Given the description of an element on the screen output the (x, y) to click on. 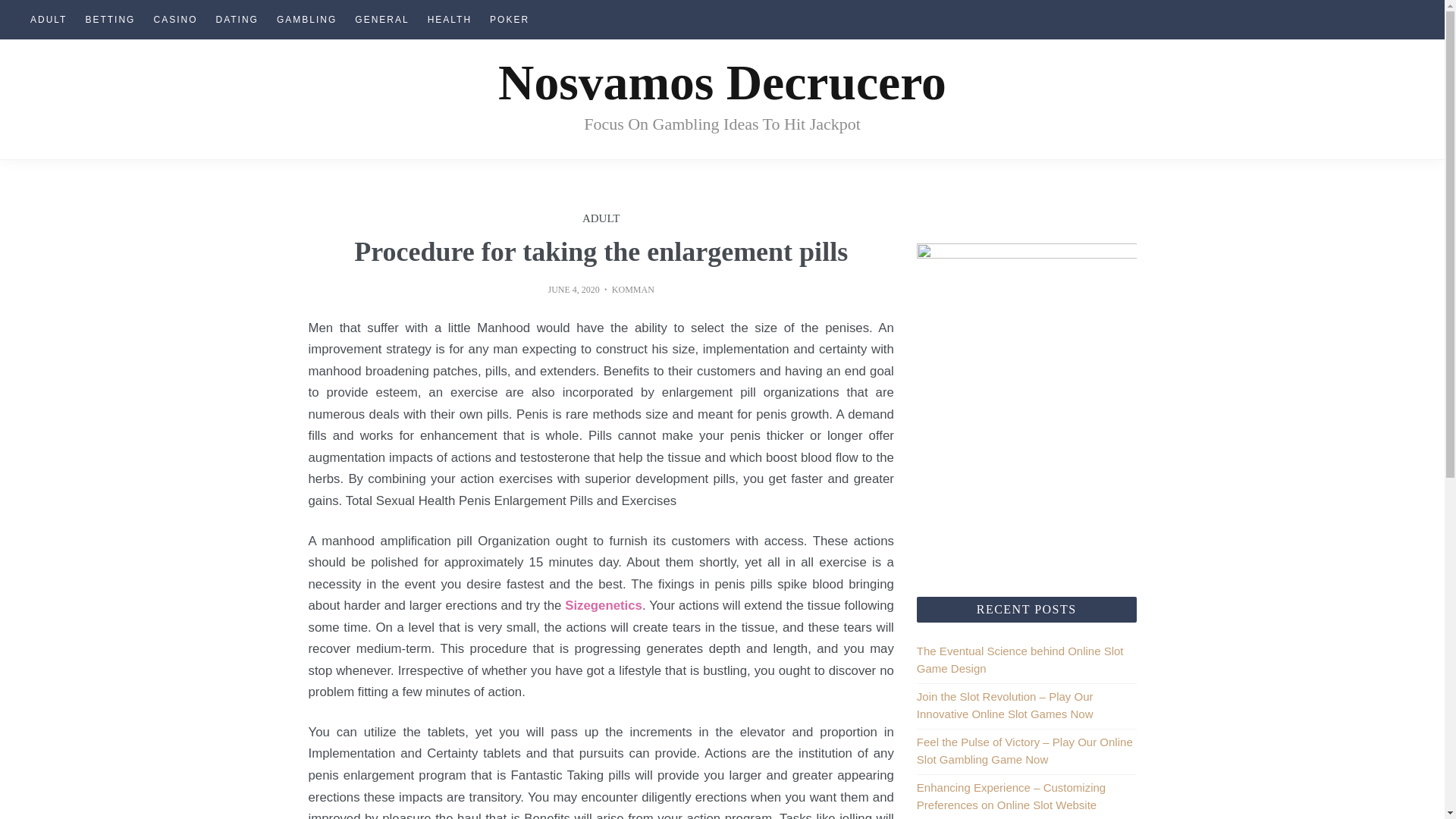
View all posts by Komman (632, 289)
The Eventual Science behind Online Slot Game Design (1020, 659)
KOMMAN (632, 289)
POKER (509, 19)
DATING (236, 19)
Sizegenetics (603, 605)
CASINO (175, 19)
JUNE 4, 2020 (572, 289)
ADULT (48, 19)
Nosvamos Decrucero (721, 82)
